Given the description of an element on the screen output the (x, y) to click on. 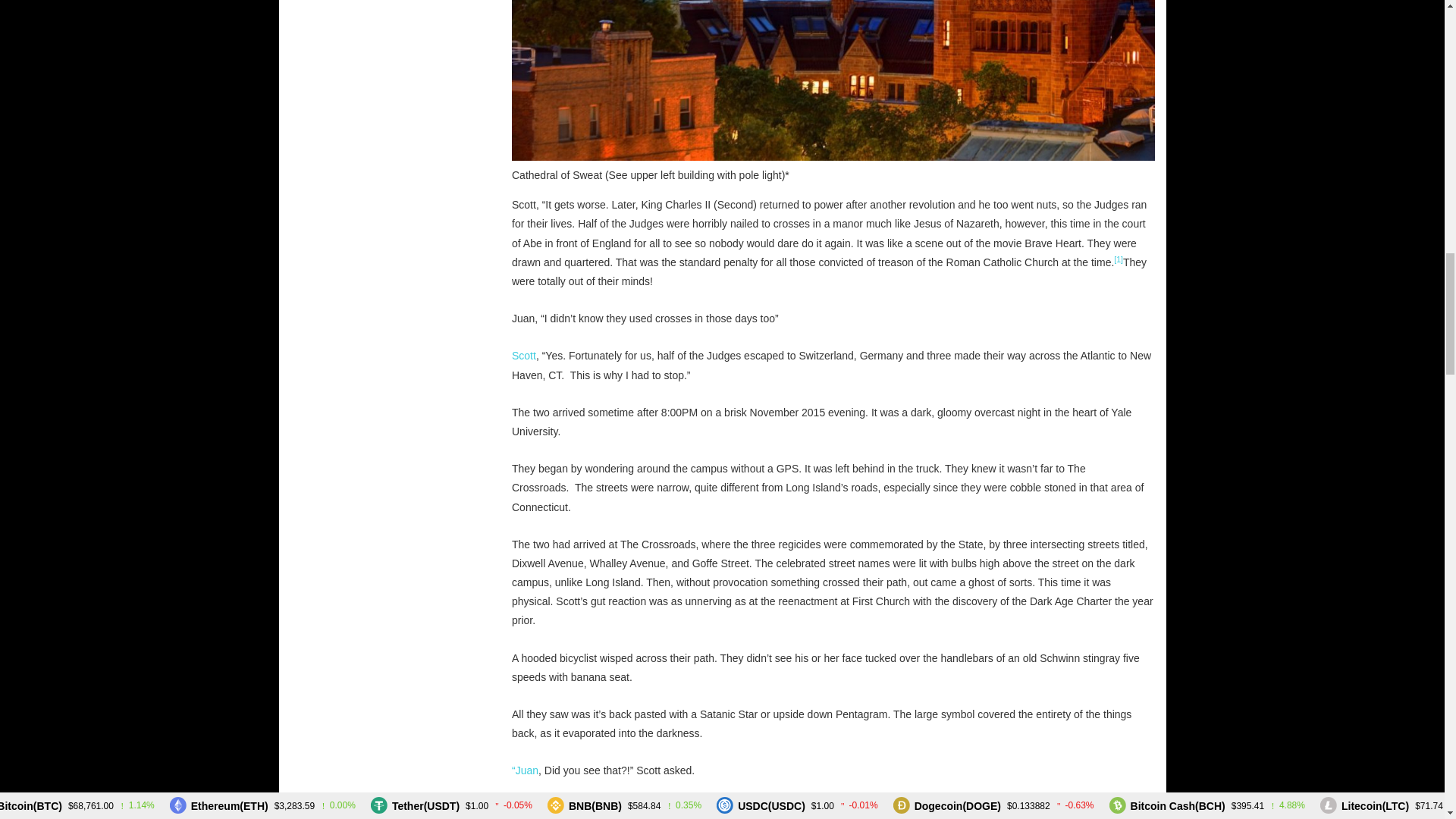
Scott (523, 355)
